Given the description of an element on the screen output the (x, y) to click on. 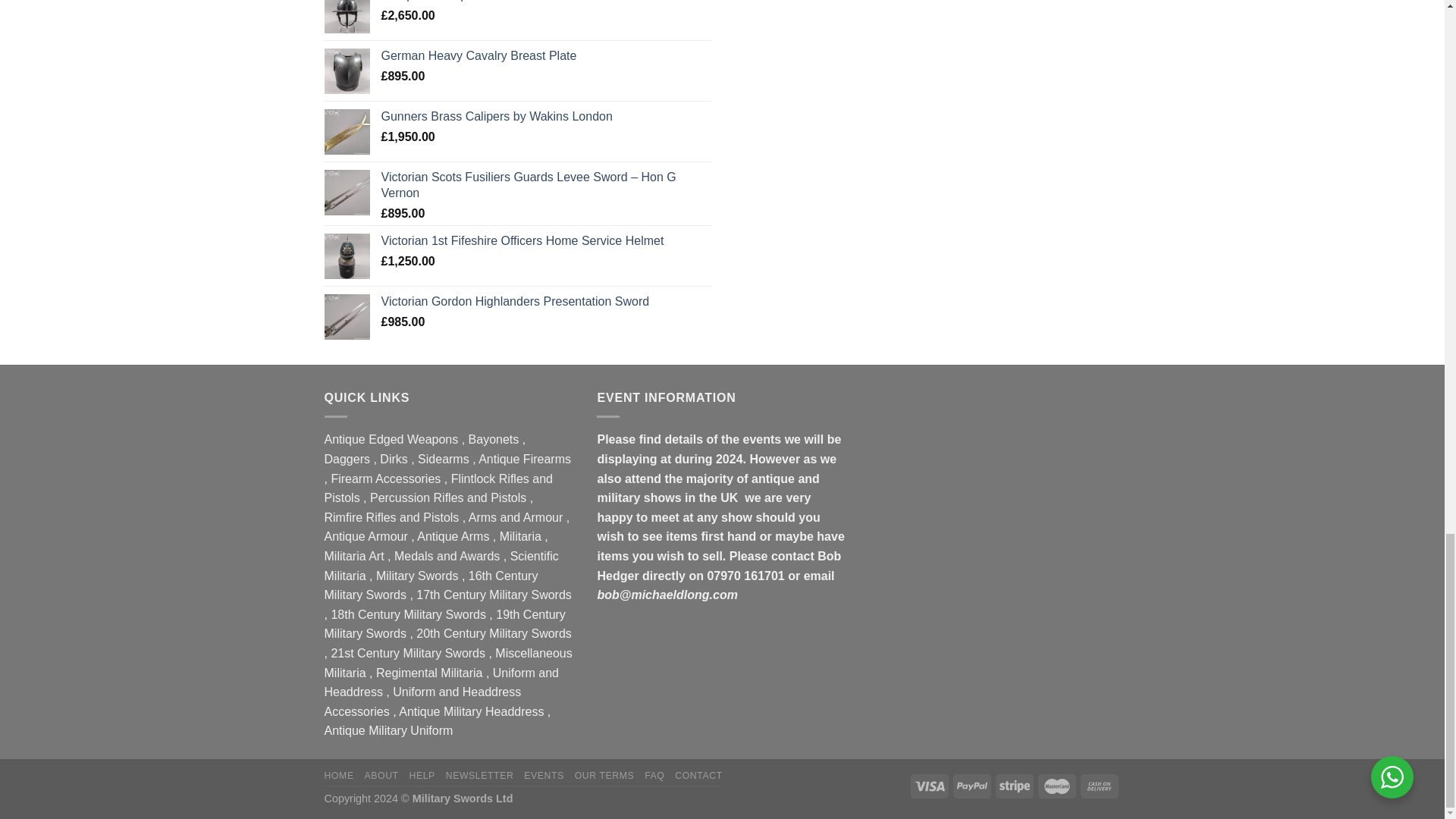
European Harquebusiers Pott (545, 2)
Gunners Brass Calipers by Wakins London (545, 116)
German Heavy Cavalry Breast Plate (545, 56)
